Given the description of an element on the screen output the (x, y) to click on. 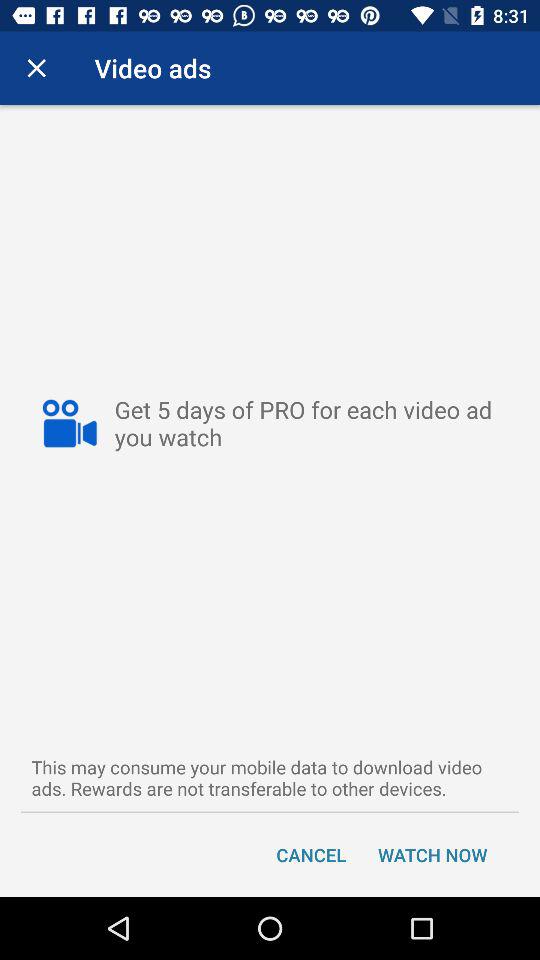
press icon to the left of video ads icon (36, 68)
